Given the description of an element on the screen output the (x, y) to click on. 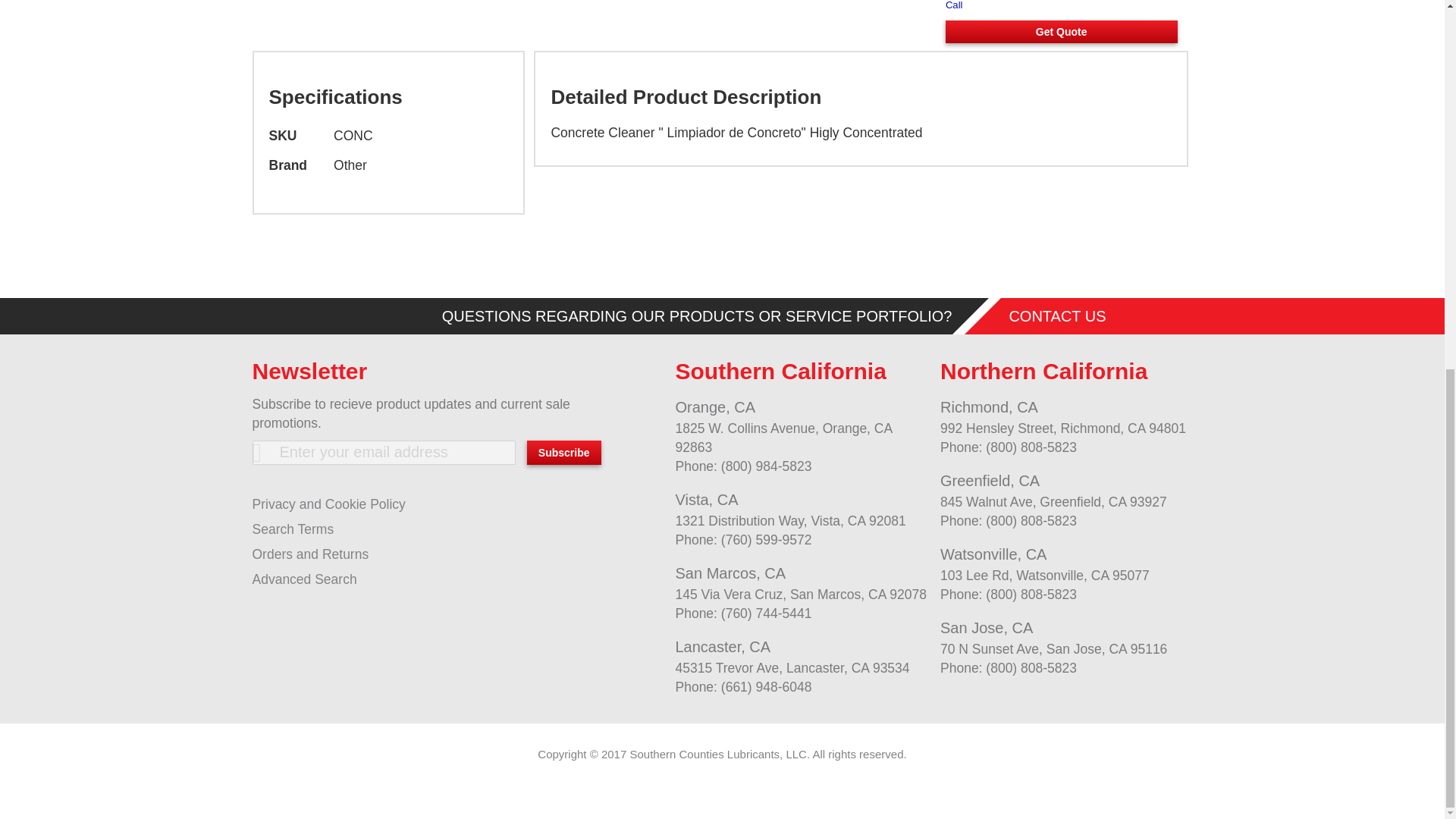
Subscribe (564, 452)
Get Quote (1060, 31)
Availability: (1060, 6)
